Given the description of an element on the screen output the (x, y) to click on. 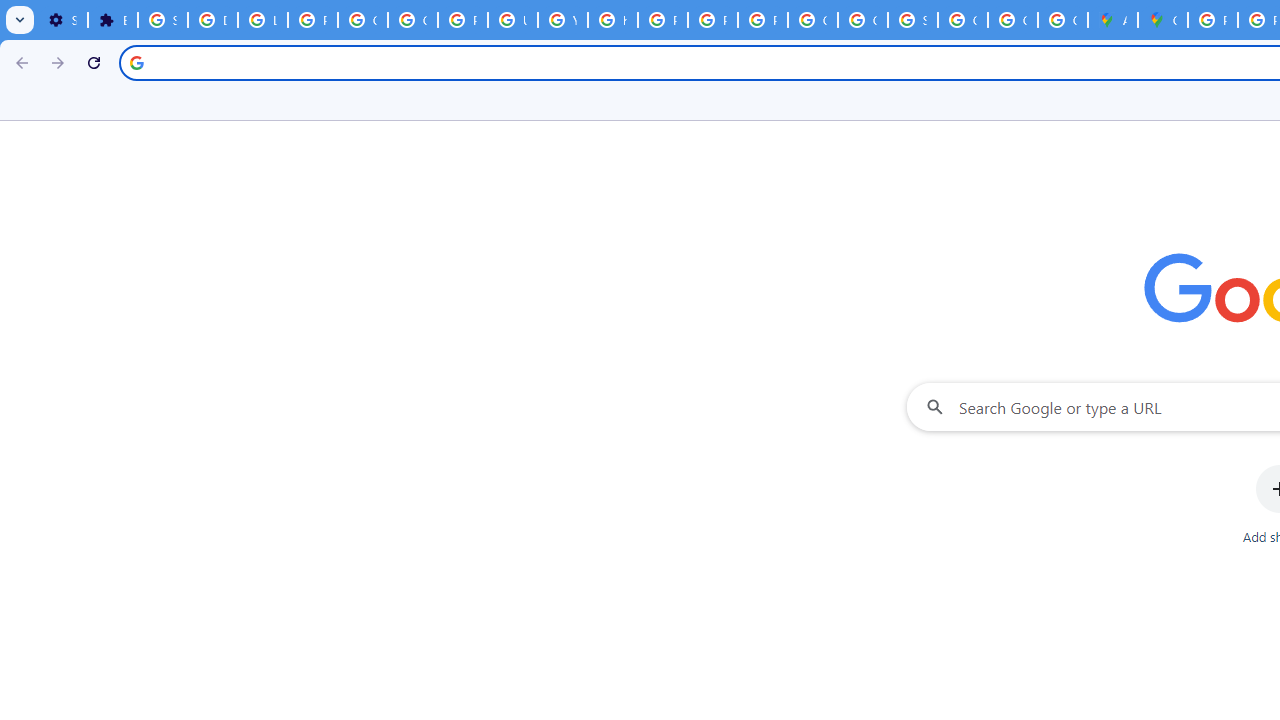
Create your Google Account (1062, 20)
Policy Accountability and Transparency - Transparency Center (1212, 20)
Sign in - Google Accounts (163, 20)
Extensions (113, 20)
Google Account Help (362, 20)
Learn how to find your photos - Google Photos Help (262, 20)
Privacy Help Center - Policies Help (662, 20)
Sign in - Google Accounts (913, 20)
